Given the description of an element on the screen output the (x, y) to click on. 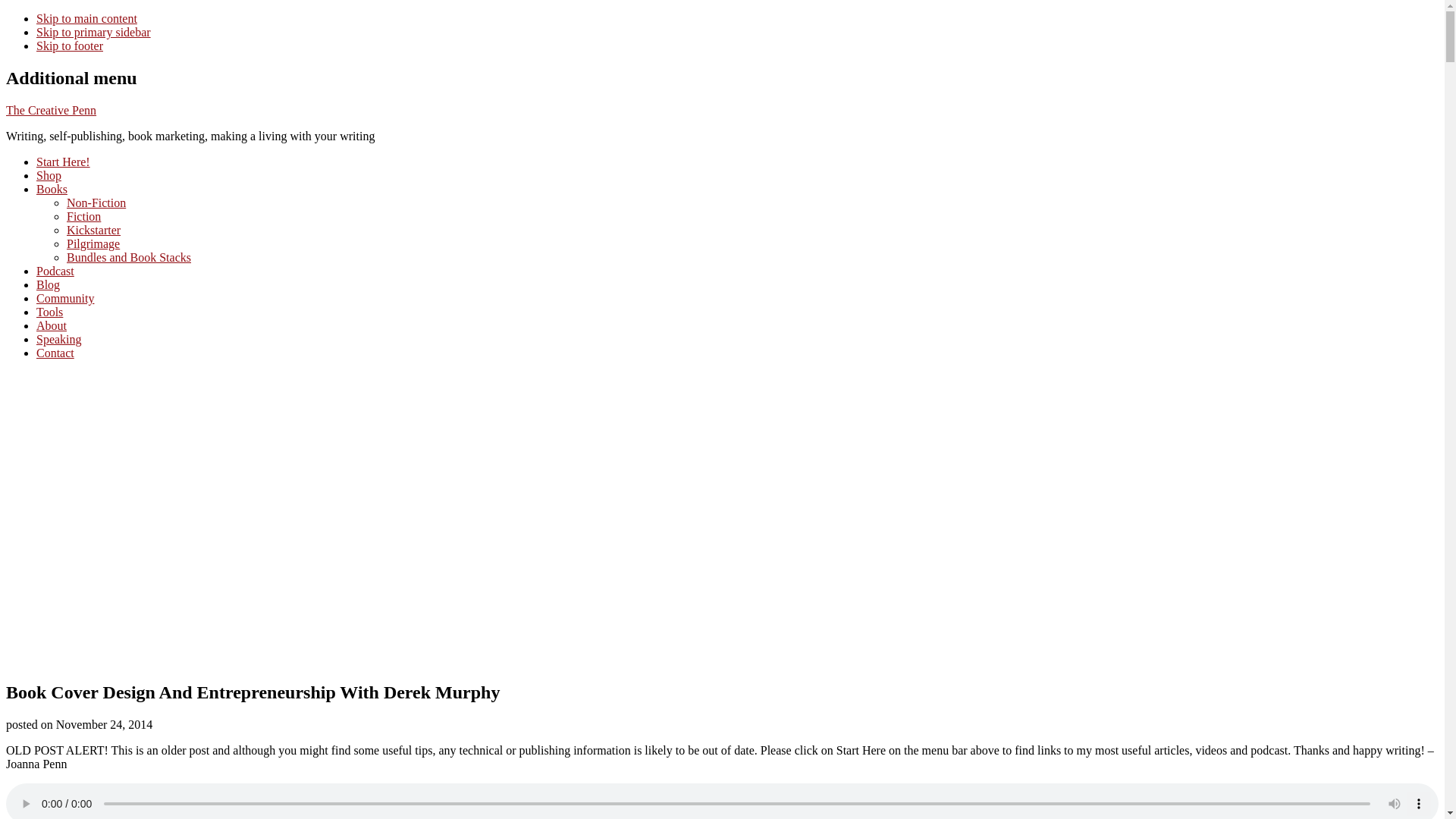
Community (65, 297)
Fiction (83, 215)
Skip to footer (69, 45)
Podcast (55, 270)
Tools (49, 311)
Blog (47, 284)
Books (51, 188)
Pilgrimage (92, 243)
Start Here! (63, 161)
Speaking (58, 338)
Bundles and Book Stacks (128, 256)
Shop (48, 174)
Skip to primary sidebar (93, 31)
Non-Fiction (95, 202)
About (51, 325)
